Given the description of an element on the screen output the (x, y) to click on. 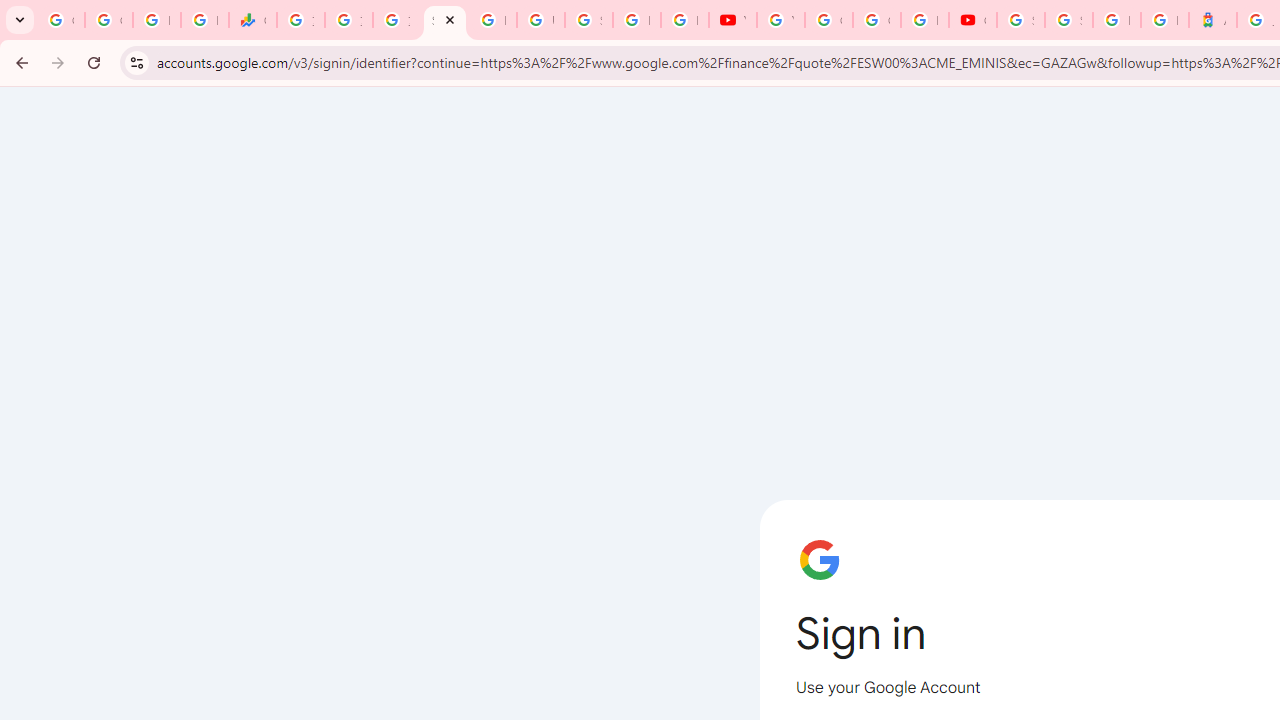
Sign in - Google Accounts (588, 20)
Atour Hotel - Google hotels (1212, 20)
Sign in - Google Accounts (1020, 20)
Privacy Checkup (684, 20)
Content Creator Programs & Opportunities - YouTube Creators (972, 20)
Google Account Help (828, 20)
